Given the description of an element on the screen output the (x, y) to click on. 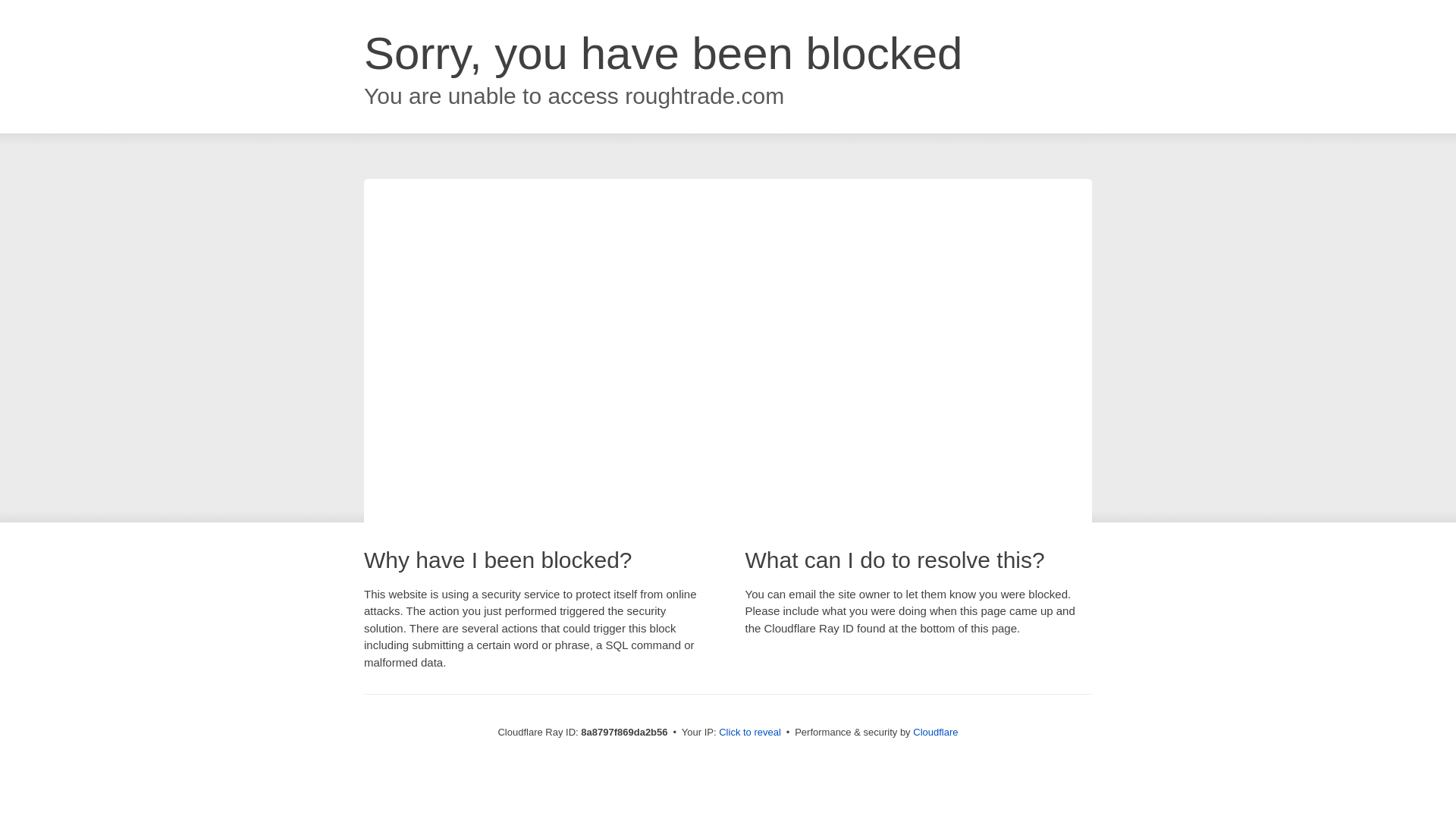
Click to reveal (749, 732)
Cloudflare (935, 731)
